Given the description of an element on the screen output the (x, y) to click on. 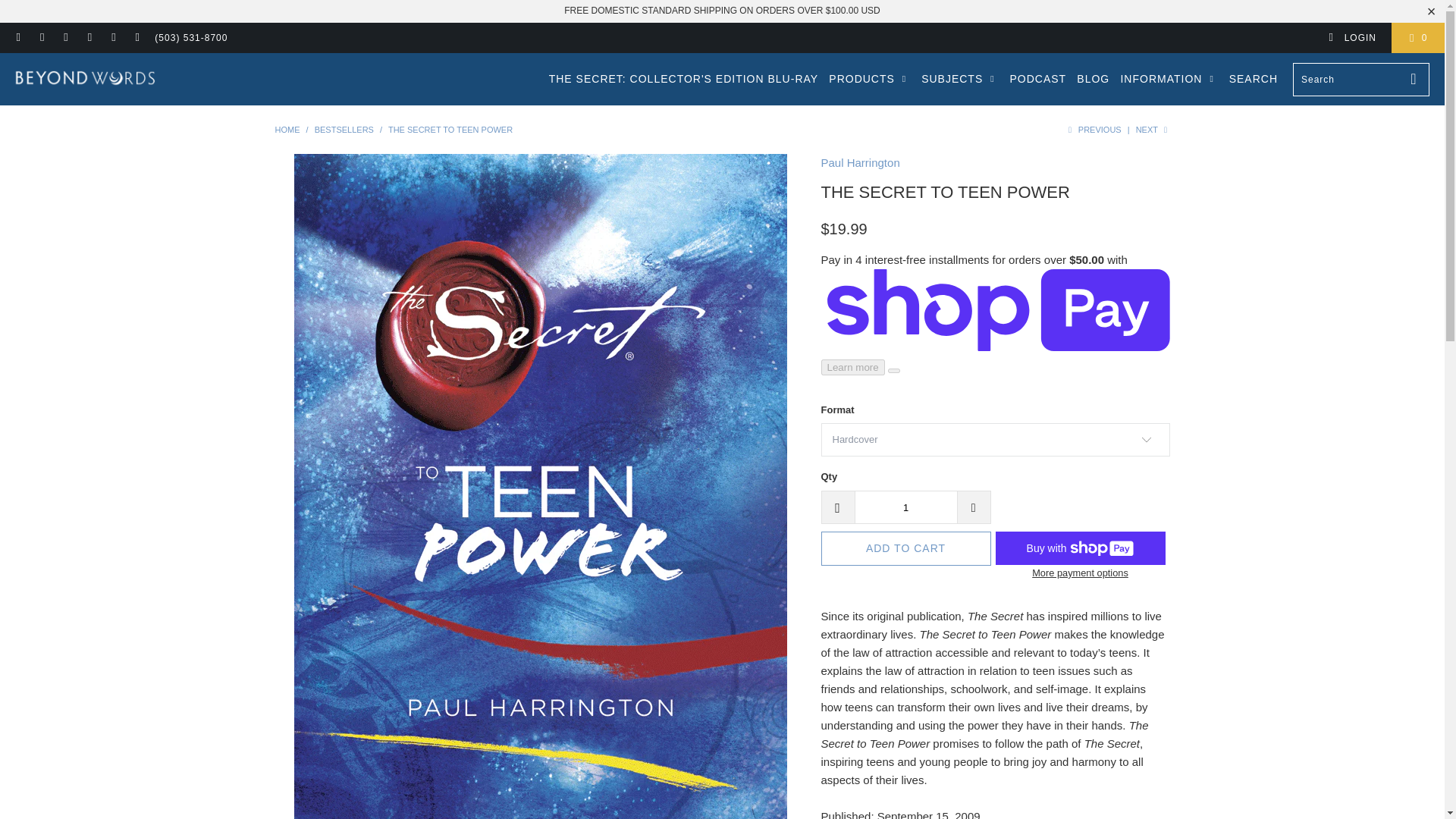
Beyond Words Publishing on Pinterest (65, 37)
Beyond Words Publishing (84, 78)
Beyond Words Publishing on Facebook (17, 37)
Next (1152, 129)
Email Beyond Words Publishing (136, 37)
Beyond Words Publishing (287, 129)
Previous (1092, 129)
Beyond Words Publishing on YouTube (41, 37)
Beyond Words Publishing on Instagram (89, 37)
Beyond Words Publishing on LinkedIn (112, 37)
Paul Harrington (860, 162)
1 (904, 507)
My Account  (1351, 37)
Bestsellers (344, 129)
